Given the description of an element on the screen output the (x, y) to click on. 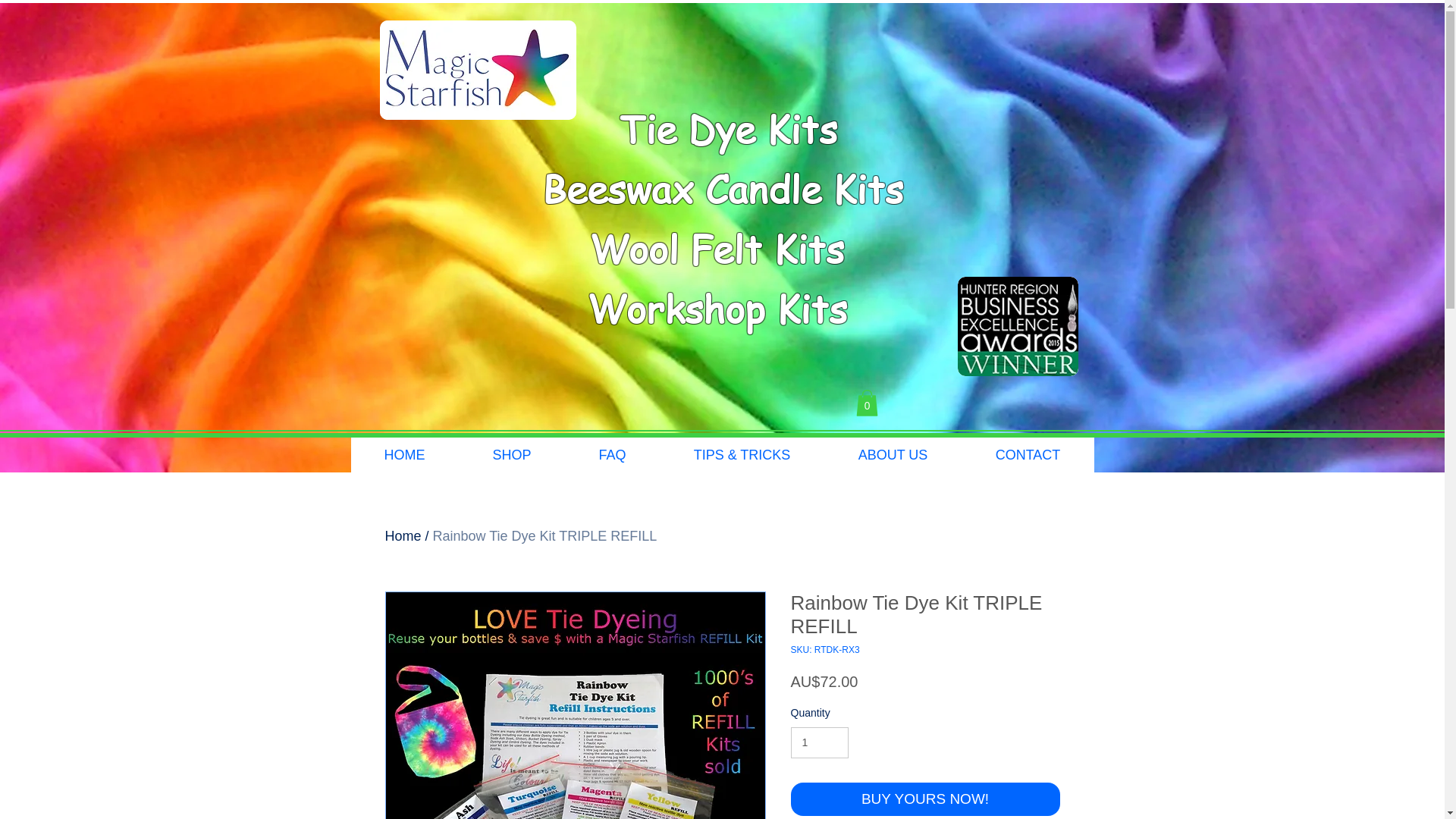
FAQ Element type: text (611, 454)
ABOUT US Element type: text (891, 454)
BUY YOURS NOW! Element type: text (924, 799)
CONTACT Element type: text (1027, 454)
0 Element type: text (866, 402)
SHOP Element type: text (511, 454)
Site Search Element type: hover (986, 406)
TIPS & TRICKS Element type: text (741, 454)
Home Element type: text (403, 535)
Rainbow Tie Dye Kit TRIPLE REFILL Element type: text (545, 535)
HOME Element type: text (404, 454)
